Given the description of an element on the screen output the (x, y) to click on. 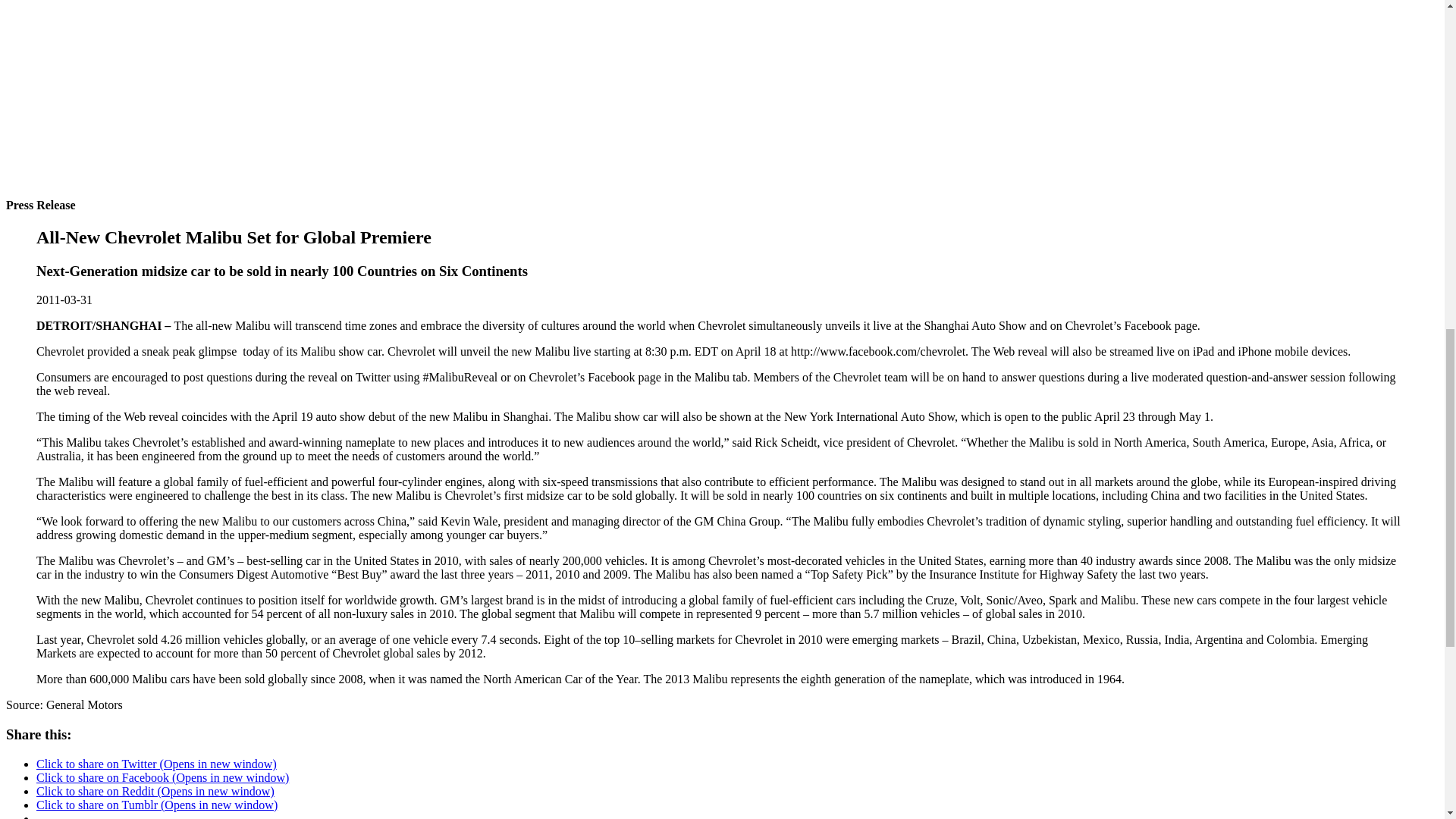
Click to share on Twitter (156, 763)
Click to share on Facebook (162, 777)
Click to share on Tumblr (157, 804)
Click to share on Reddit (155, 790)
